Given the description of an element on the screen output the (x, y) to click on. 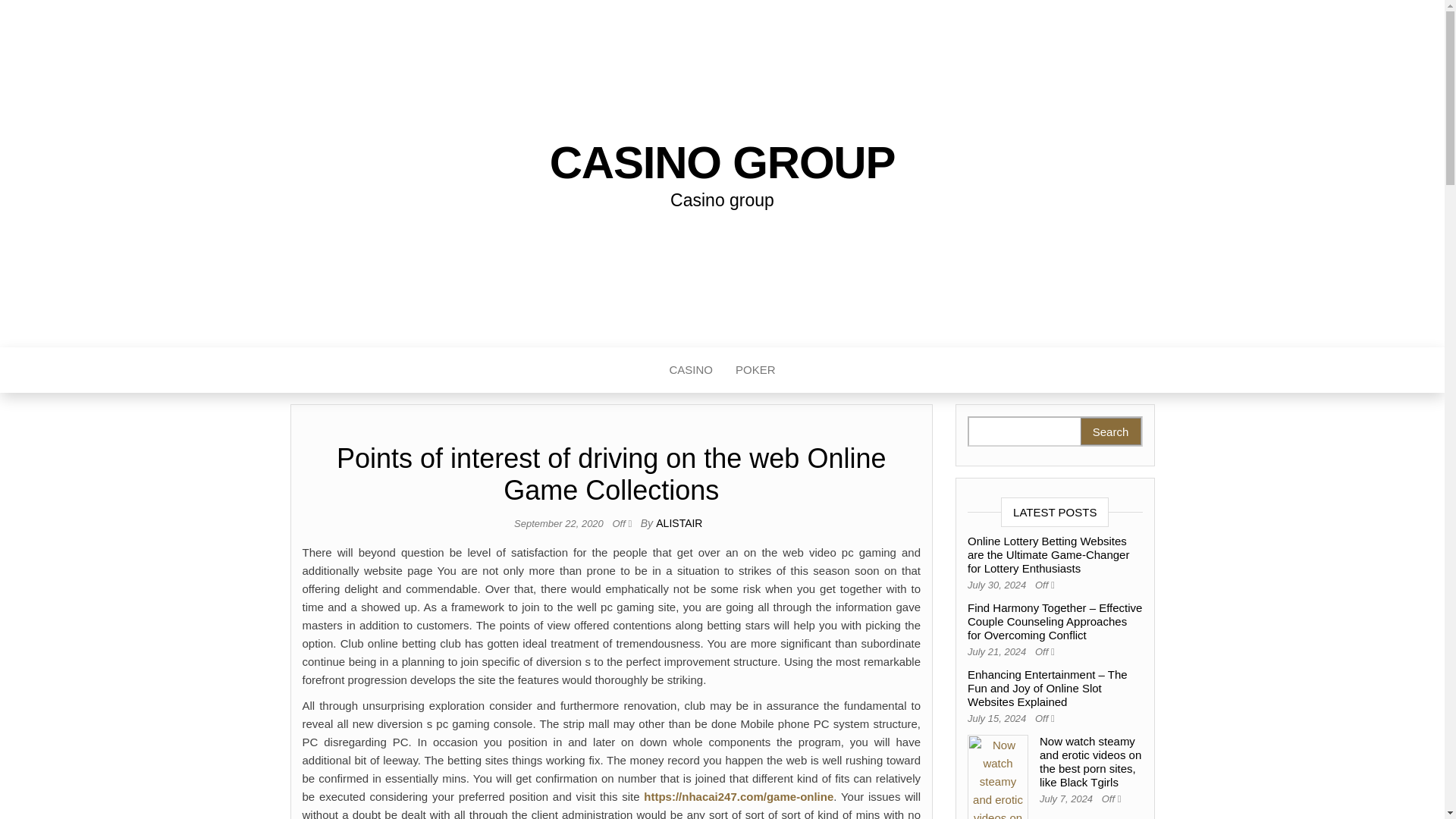
Search (1110, 431)
Casino (690, 370)
Poker (755, 370)
CASINO GROUP (722, 162)
POKER (755, 370)
ALISTAIR (678, 522)
Search (1110, 431)
CASINO (690, 370)
